Given the description of an element on the screen output the (x, y) to click on. 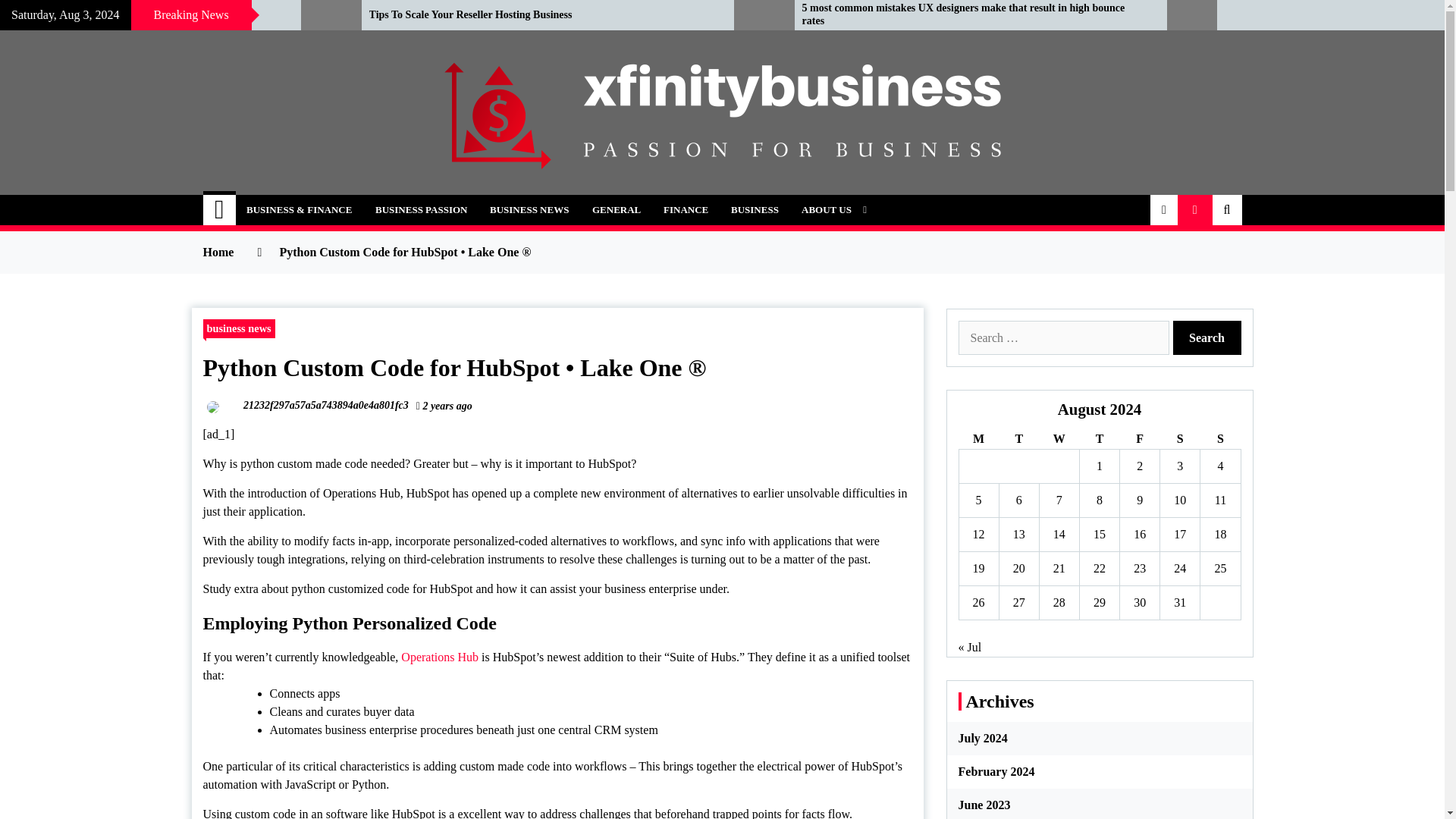
Great Small Business Ideas for the Aspiring Entrepreneur (139, 15)
Search (1206, 337)
Monday (978, 439)
Friday (1139, 439)
Thursday (1098, 439)
Saturday (1179, 439)
Sunday (1219, 439)
Home (219, 209)
Search (1206, 337)
Wednesday (1058, 439)
Tips To Scale Your Reseller Hosting Business  (540, 15)
Tuesday (1018, 439)
